Given the description of an element on the screen output the (x, y) to click on. 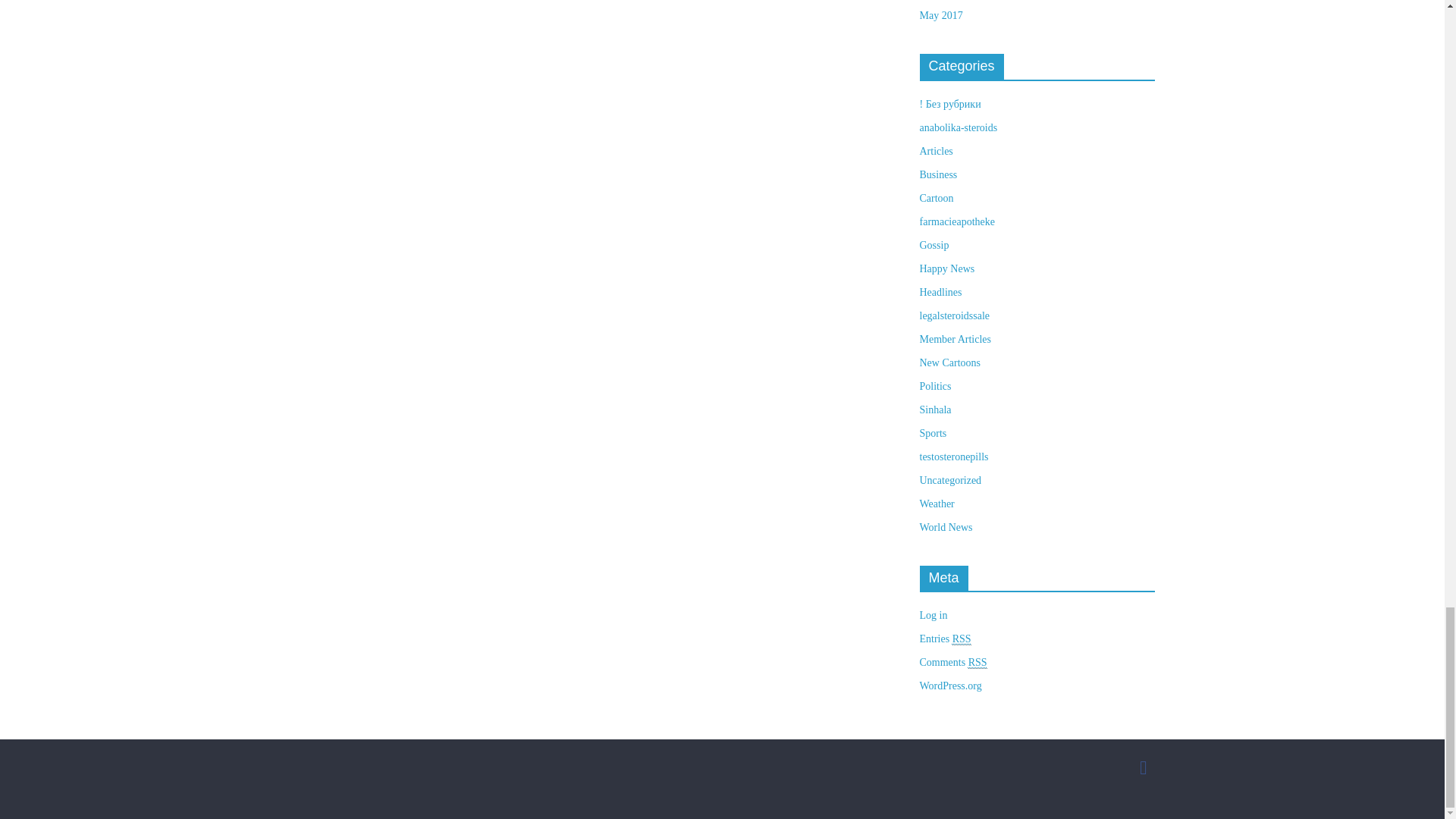
Really Simple Syndication (961, 639)
Really Simple Syndication (977, 662)
